Given the description of an element on the screen output the (x, y) to click on. 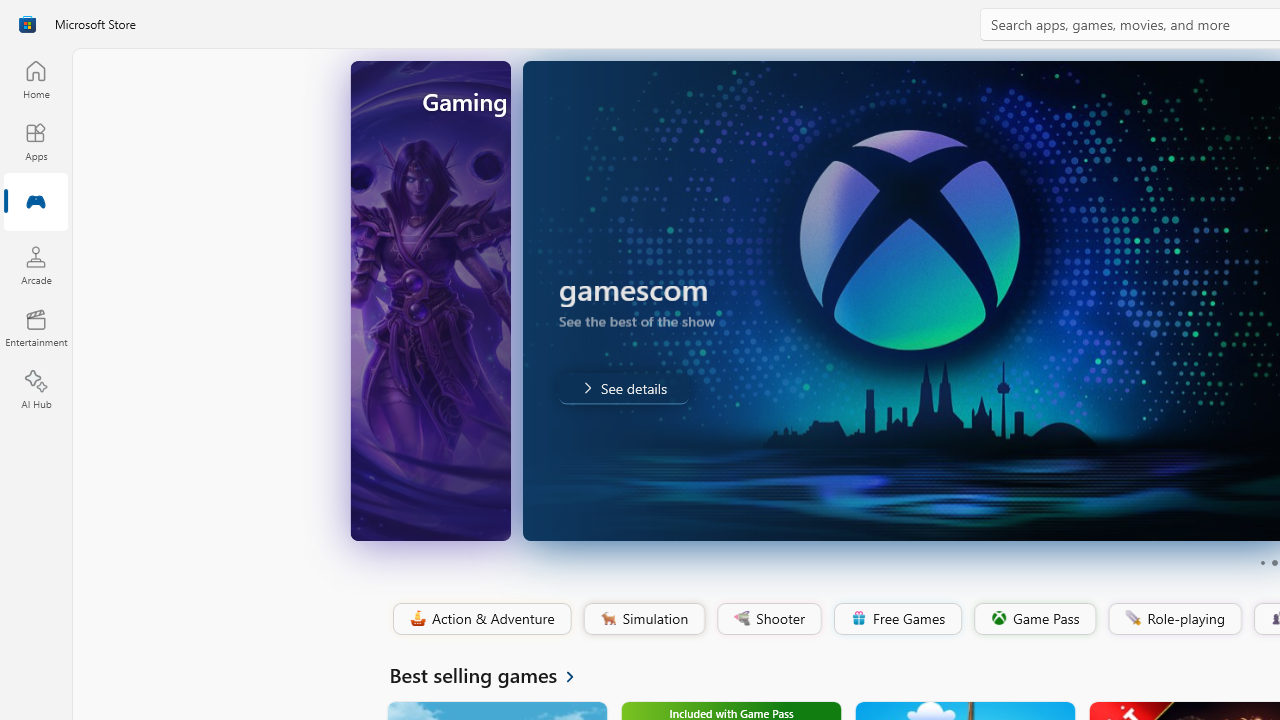
Game Pass (1033, 619)
AI Hub (35, 390)
AutomationID: Image (815, 300)
Entertainment (35, 327)
Simulation (643, 619)
Page 2 (1274, 562)
Action & Adventure (480, 619)
Gaming (35, 203)
Arcade (35, 265)
Free Games (897, 619)
Home (35, 79)
Shooter (767, 619)
Page 1 (1261, 562)
gamescom. See the best of the show.  . See details (486, 387)
See all  Best selling games (493, 674)
